Given the description of an element on the screen output the (x, y) to click on. 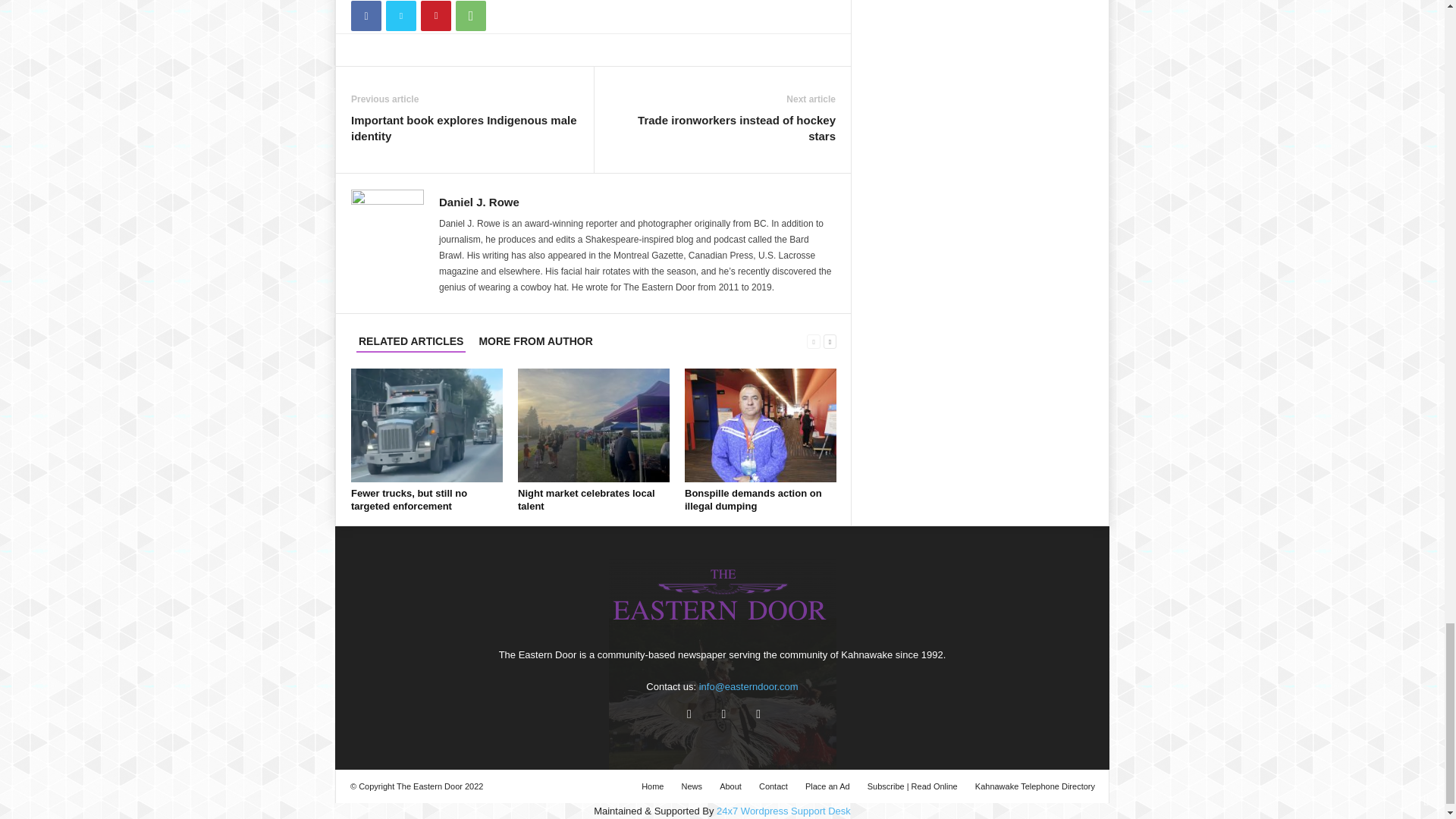
Facebook (365, 15)
Twitter (400, 15)
